Given the description of an element on the screen output the (x, y) to click on. 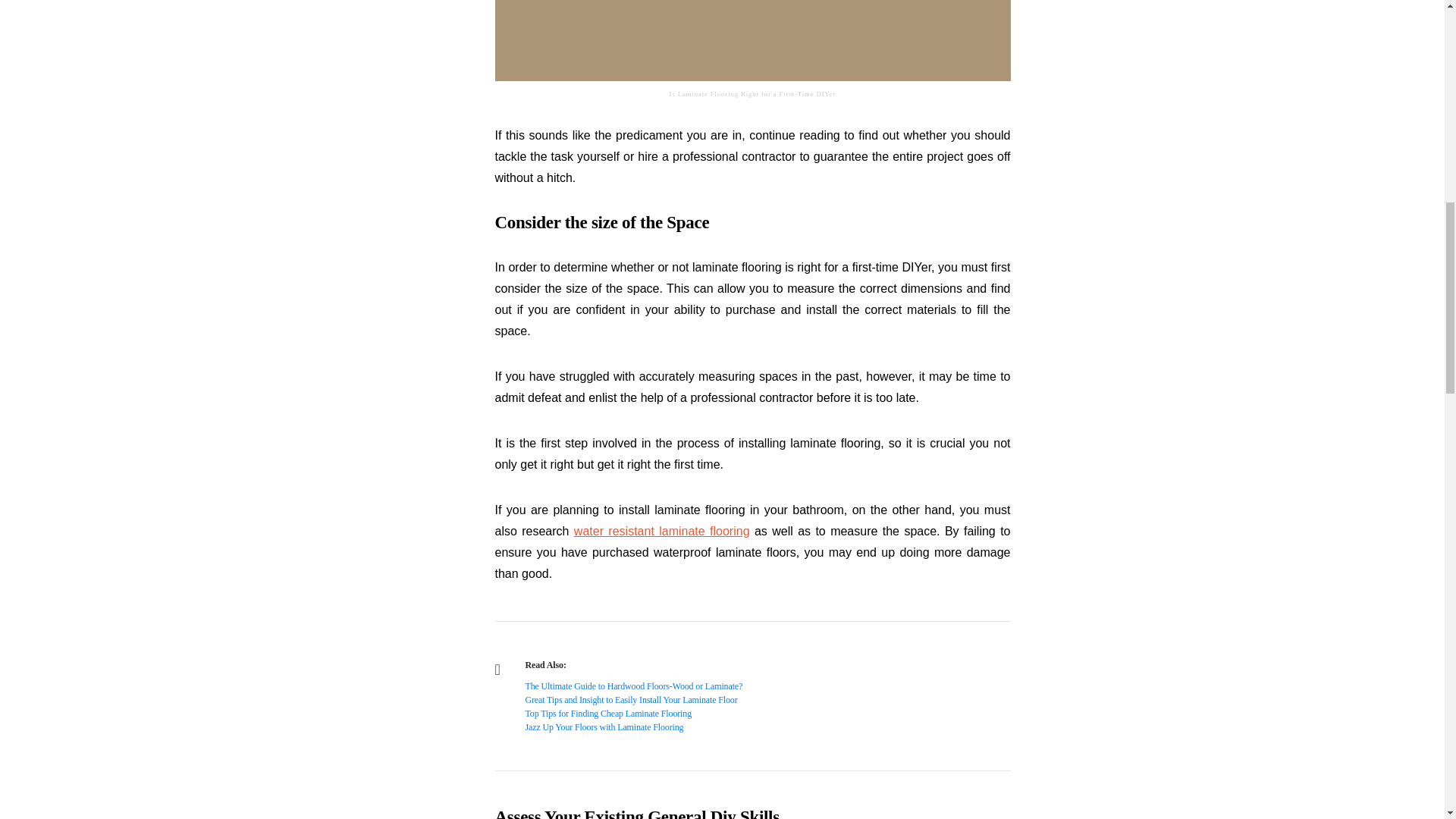
Is Laminate Flooring Right for a First-Time DIYer (752, 40)
